Given the description of an element on the screen output the (x, y) to click on. 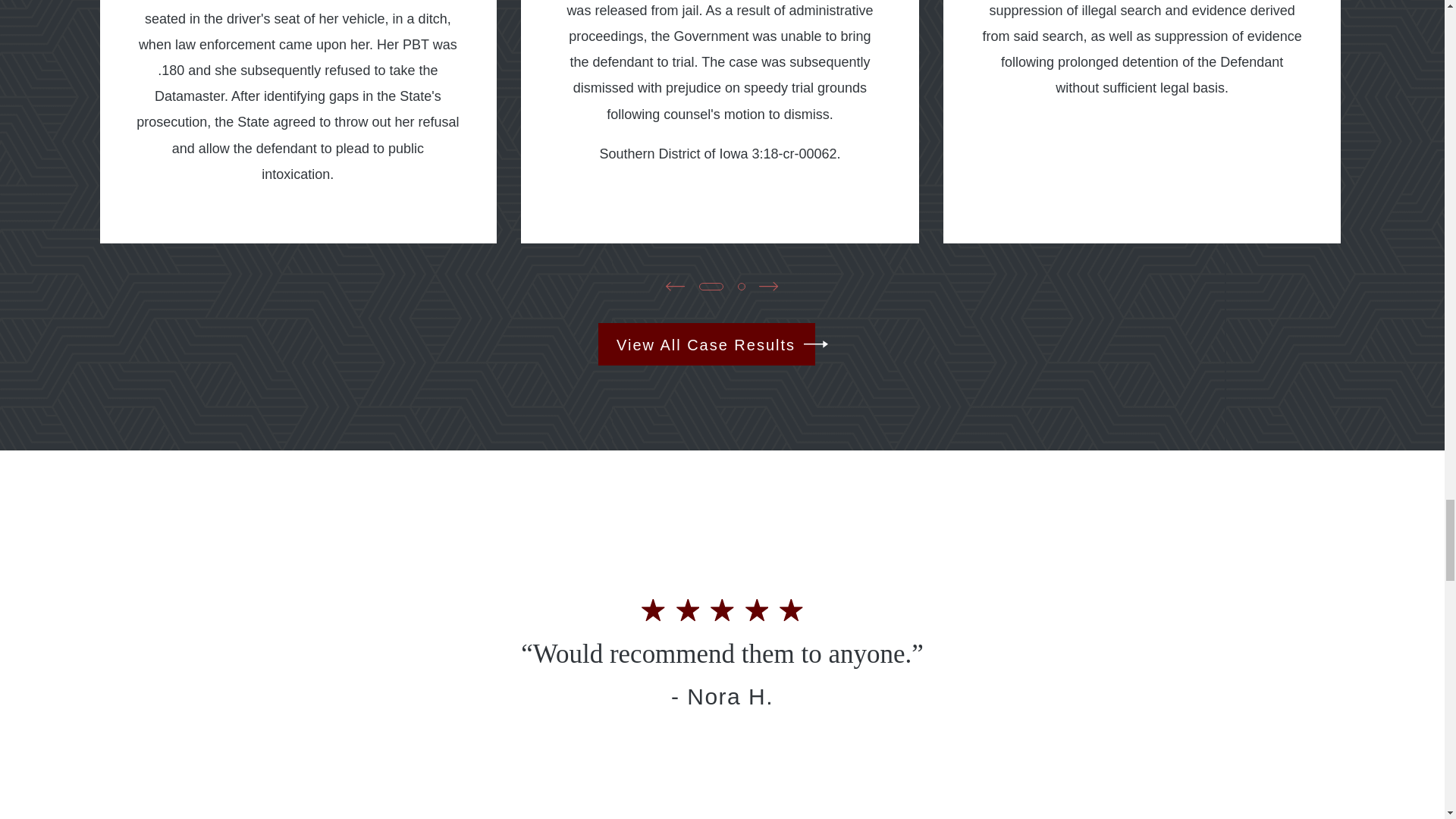
View Item 4 (741, 285)
View previous item (674, 285)
View Item 1 (710, 285)
View next item (767, 285)
View previous item (662, 817)
